Given the description of an element on the screen output the (x, y) to click on. 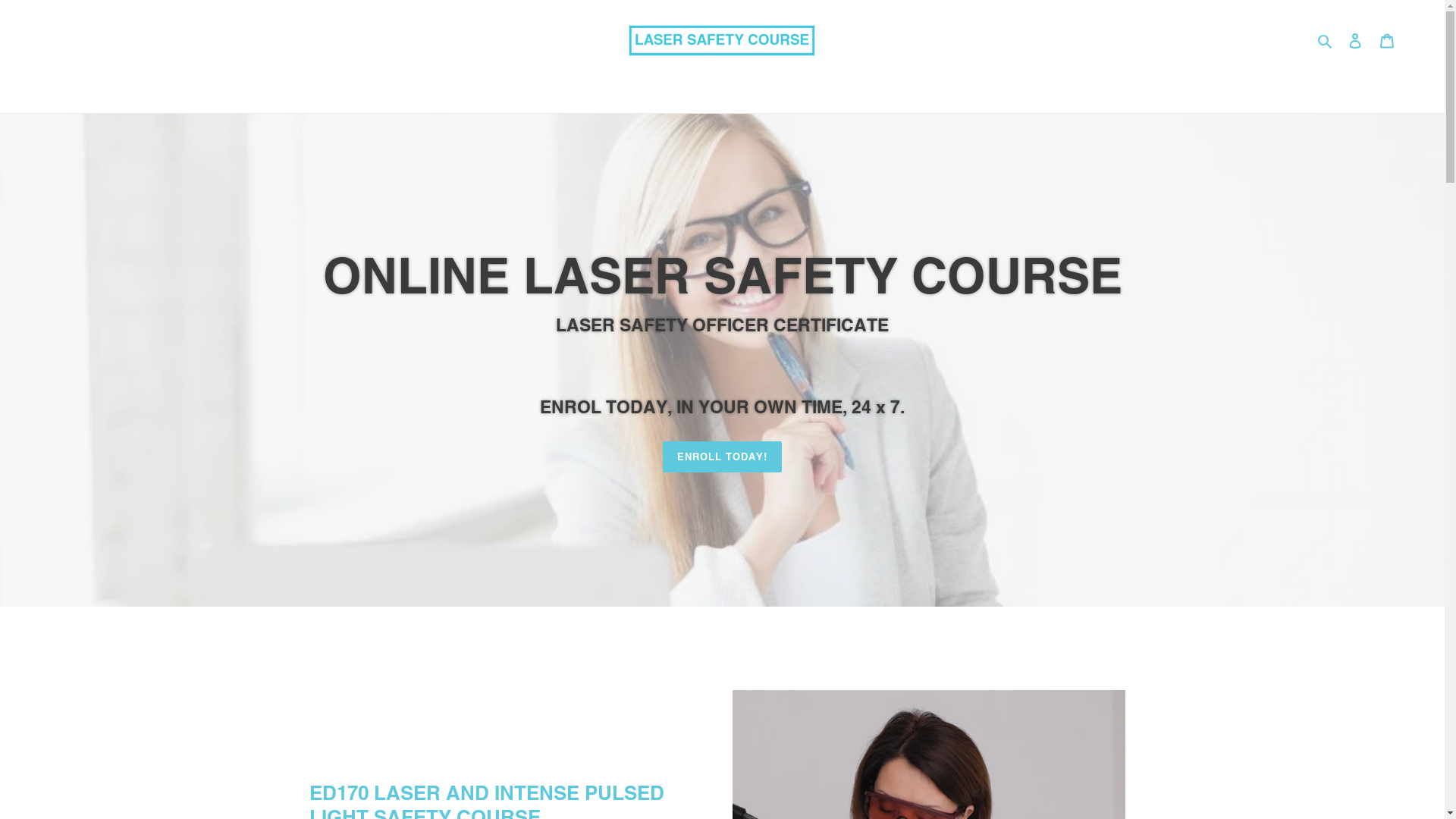
ENROLL TODAY! Element type: text (722, 457)
Log in Element type: text (1355, 40)
Cart Element type: text (1386, 40)
Search Element type: text (1325, 40)
